Given the description of an element on the screen output the (x, y) to click on. 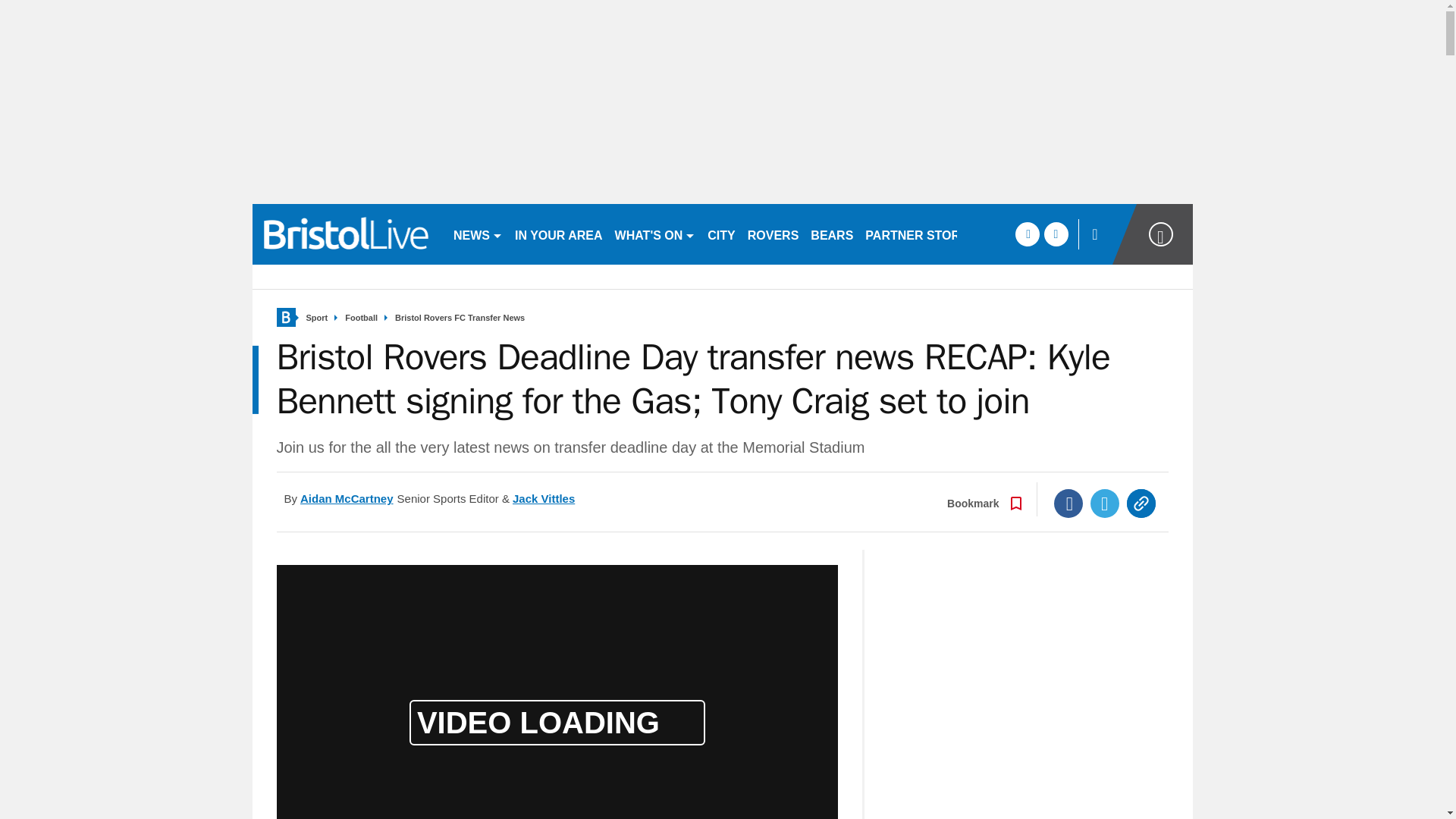
Facebook (1068, 502)
facebook (1026, 233)
NEWS (477, 233)
ROVERS (773, 233)
twitter (1055, 233)
BEARS (832, 233)
PARTNER STORIES (922, 233)
WHAT'S ON (654, 233)
bristolpost (345, 233)
Twitter (1104, 502)
